Given the description of an element on the screen output the (x, y) to click on. 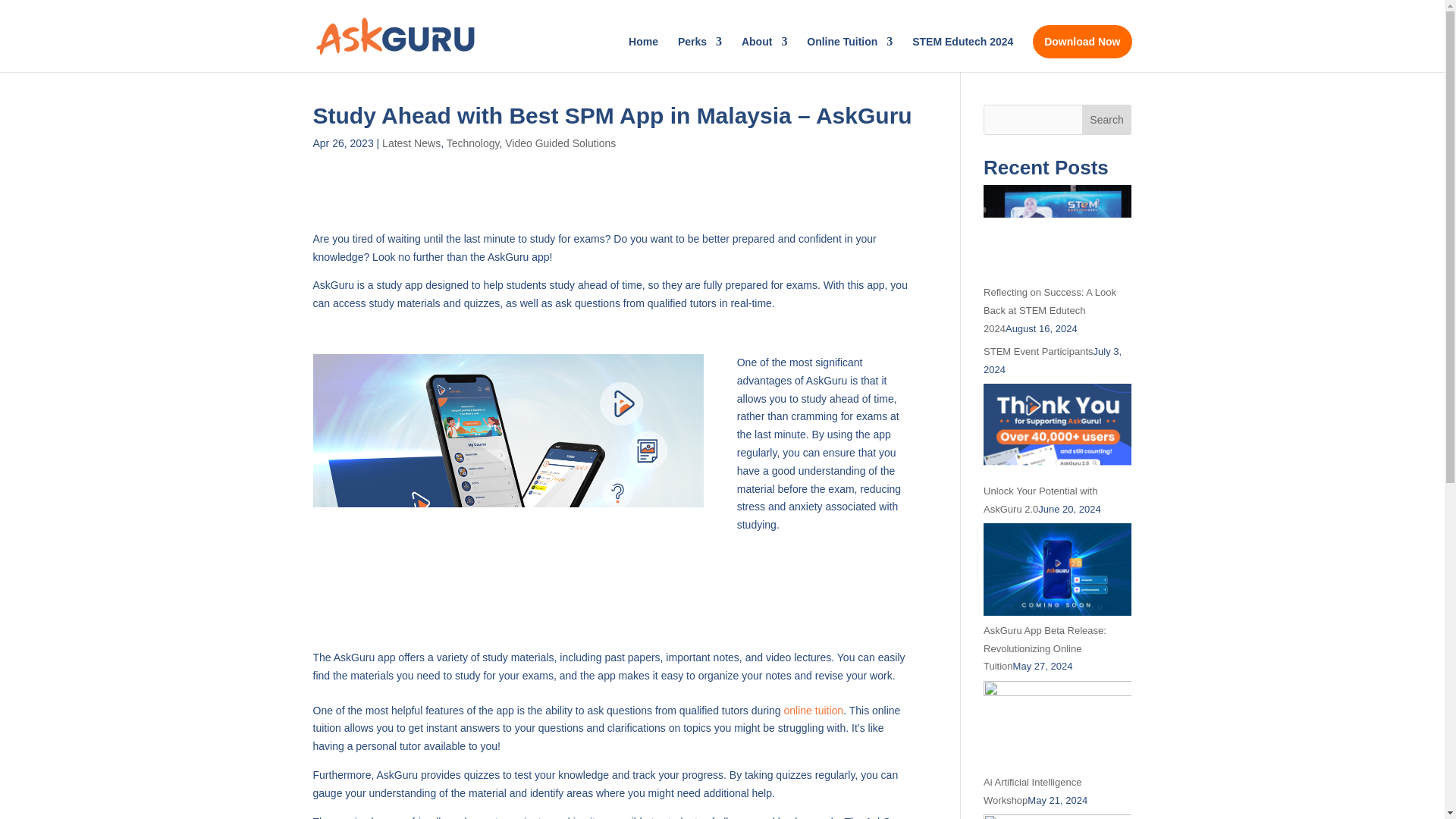
online tuition (814, 710)
Video Guided Solutions (560, 143)
About (764, 54)
Technology (472, 143)
Online Tuition (849, 54)
STEM Event Participants (1038, 351)
Perks (700, 54)
Ai Artificial Intelligence Workshop (1032, 790)
Download Now (1081, 41)
Latest News (411, 143)
